Given the description of an element on the screen output the (x, y) to click on. 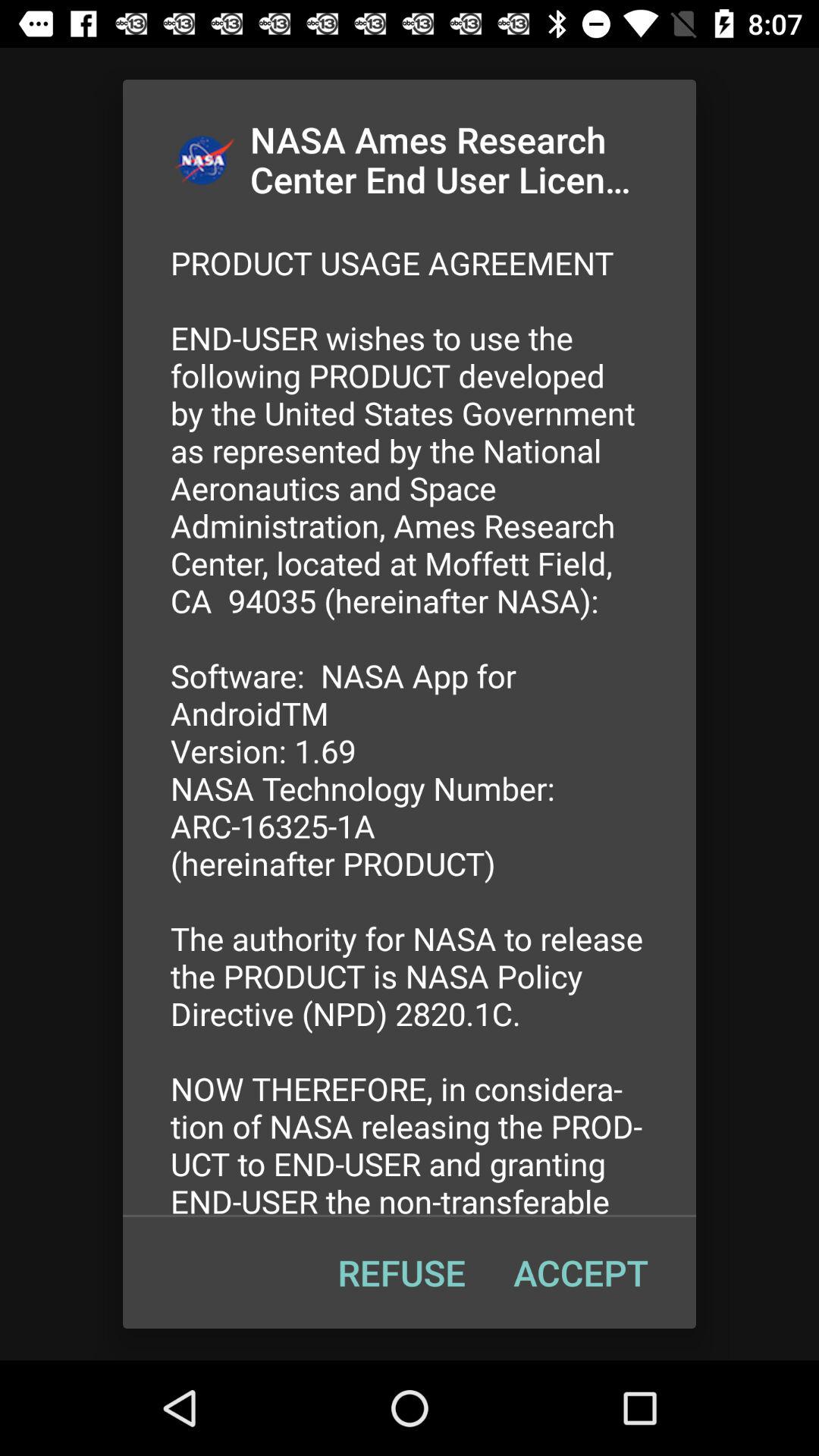
press the icon below product usage agreement (580, 1272)
